Given the description of an element on the screen output the (x, y) to click on. 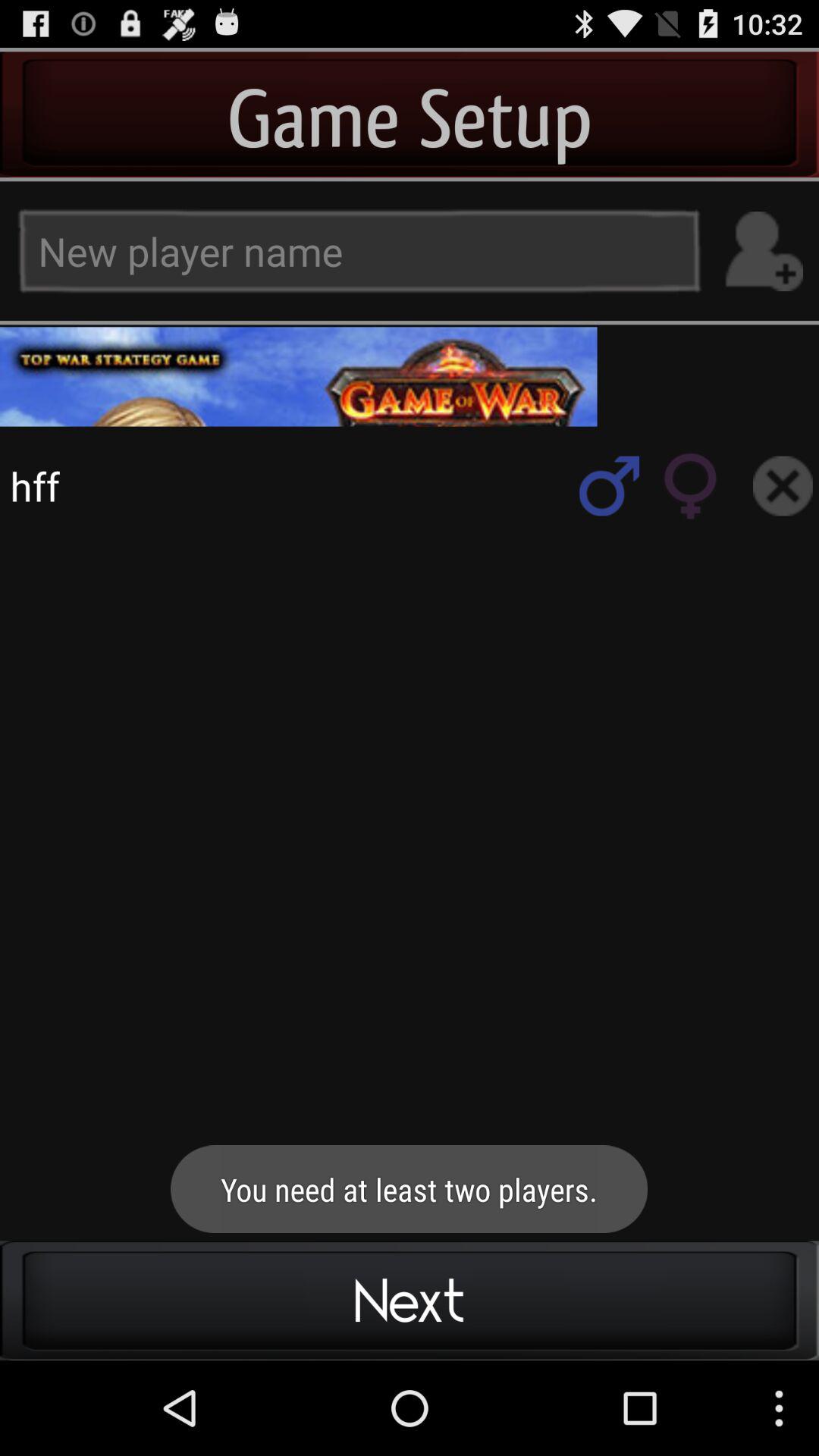
add new player name (763, 251)
